Given the description of an element on the screen output the (x, y) to click on. 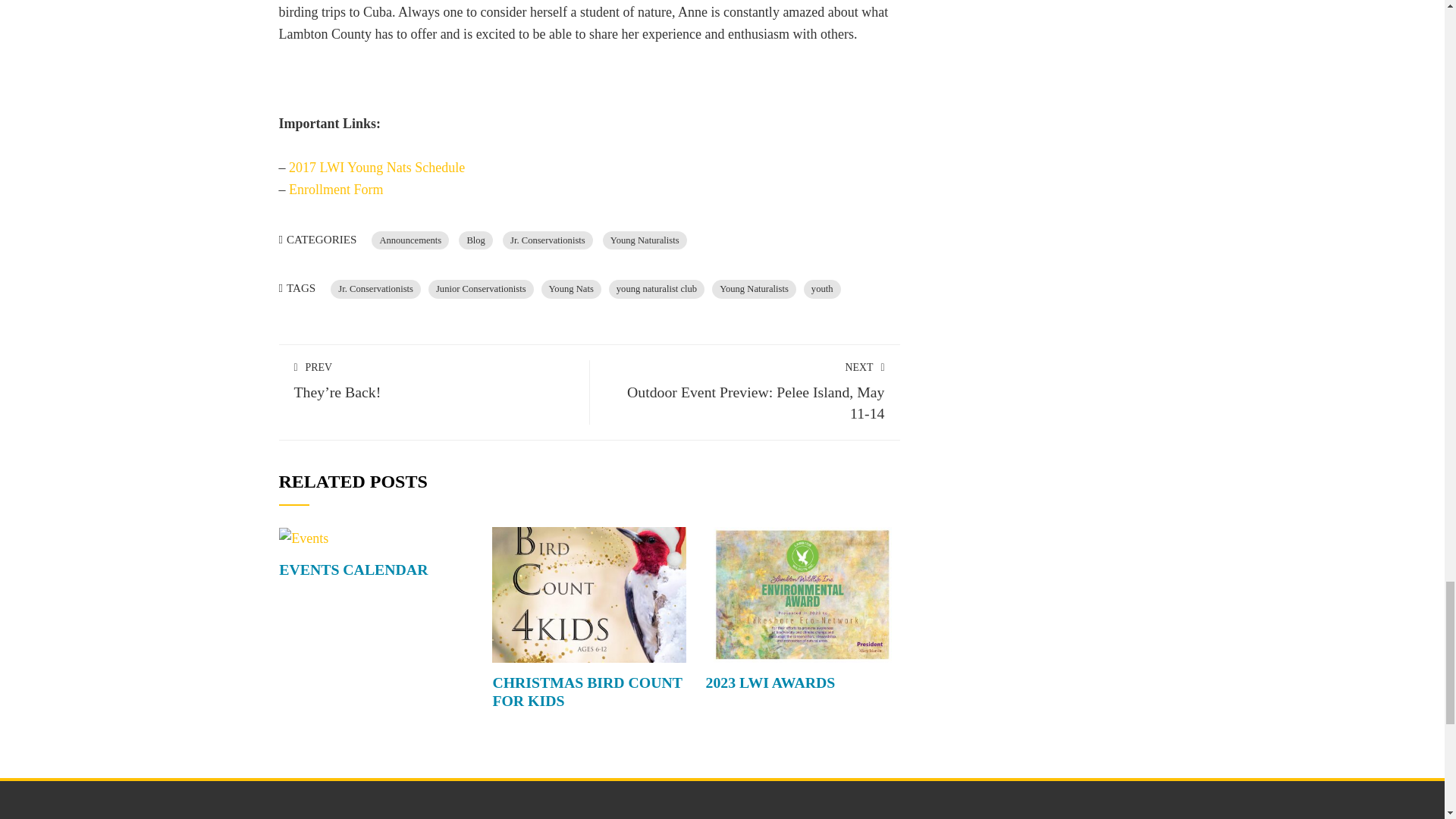
Announcements (409, 240)
2017 LWI Young Nats Schedule (376, 167)
2023 LWI Awards (802, 592)
Christmas Bird Count for Kids (588, 592)
Christmas Bird Count for Kids (586, 691)
Events Calendar (353, 569)
2023 LWI Awards (770, 682)
Enrollment Form (336, 189)
Events Calendar (304, 537)
